Given the description of an element on the screen output the (x, y) to click on. 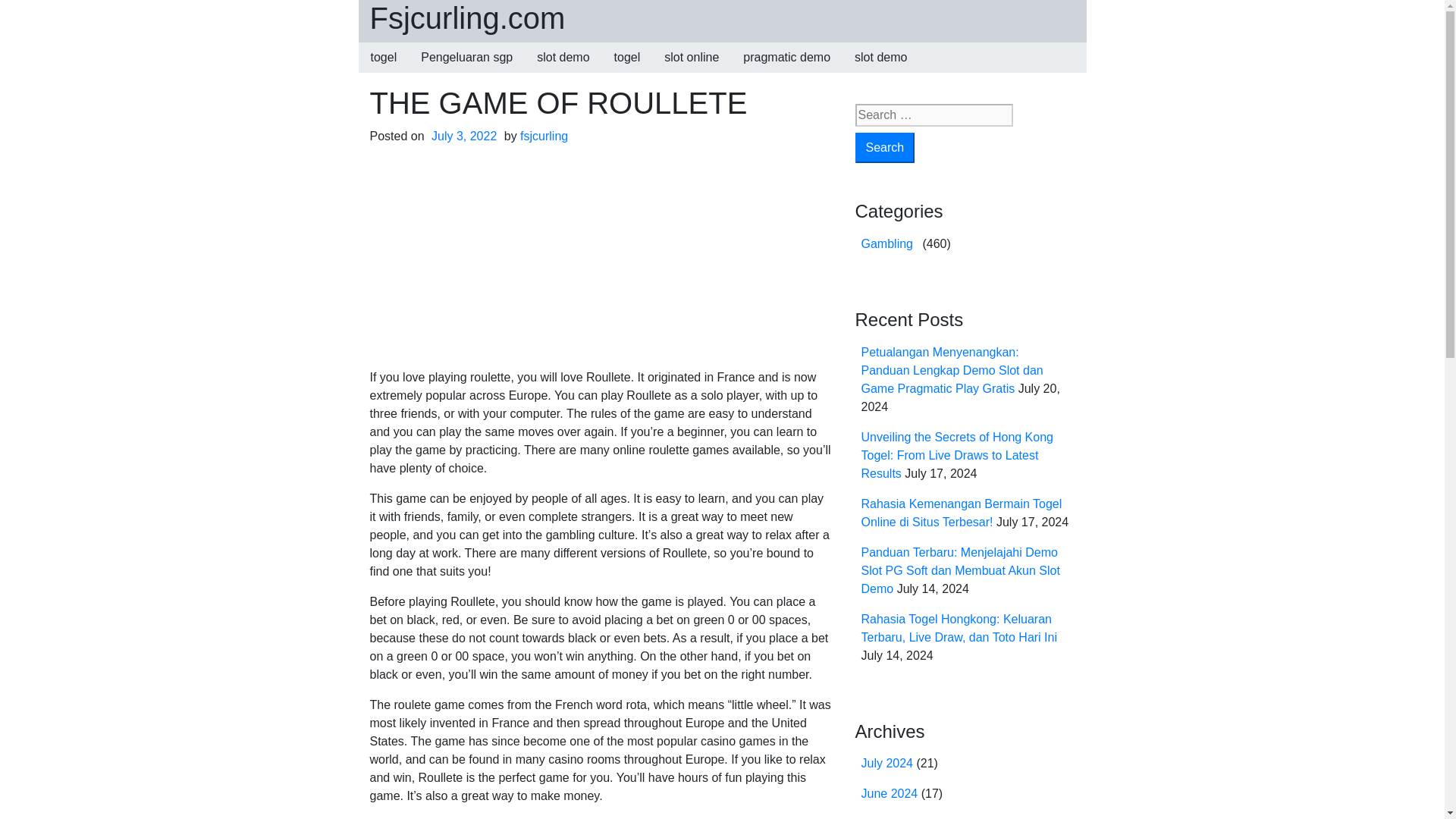
Search (885, 147)
July 3, 2022 (464, 135)
May 2024 (887, 818)
slot demo (880, 57)
Rahasia Kemenangan Bermain Togel Online di Situs Terbesar! (961, 512)
Search (885, 147)
pragmatic demo (786, 57)
Search (885, 147)
Fsjcurling.com (467, 18)
Gambling (887, 243)
fsjcurling (543, 135)
